Given the description of an element on the screen output the (x, y) to click on. 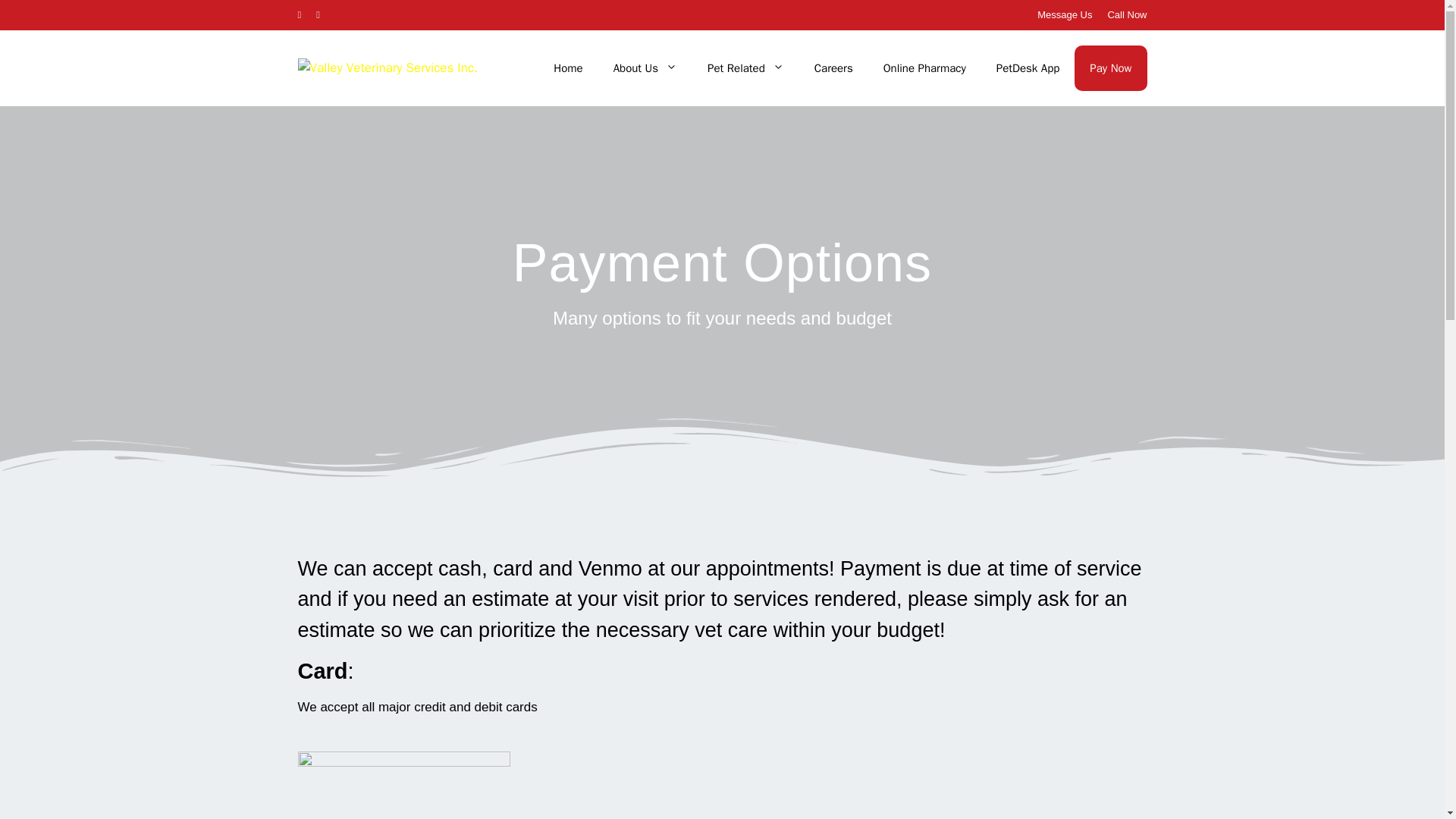
About Us (645, 67)
Pay Now (1110, 67)
Call Now (1126, 14)
Home (567, 67)
PetDesk App (1028, 67)
Pet Related (746, 67)
Careers (833, 67)
Online Pharmacy (924, 67)
Message Us (1064, 14)
